Given the description of an element on the screen output the (x, y) to click on. 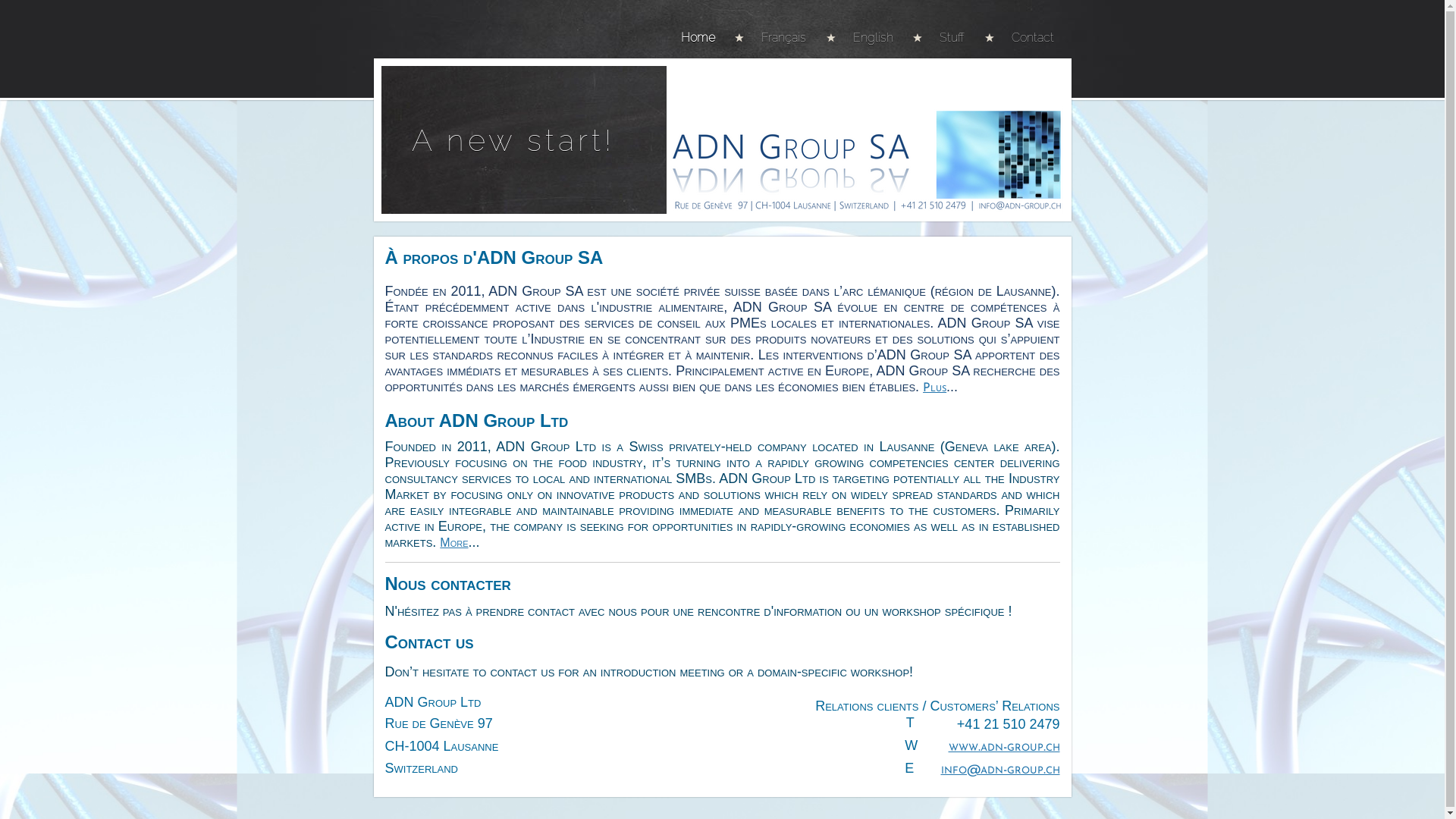
Contact Element type: text (1027, 37)
info@adn-group.ch Element type: text (999, 770)
Home Element type: text (706, 37)
More Element type: text (453, 542)
www.adn-group.ch Element type: text (1003, 747)
A new start! Element type: text (512, 139)
Plus Element type: text (934, 388)
Stuff Element type: text (947, 37)
English Element type: text (868, 37)
